Given the description of an element on the screen output the (x, y) to click on. 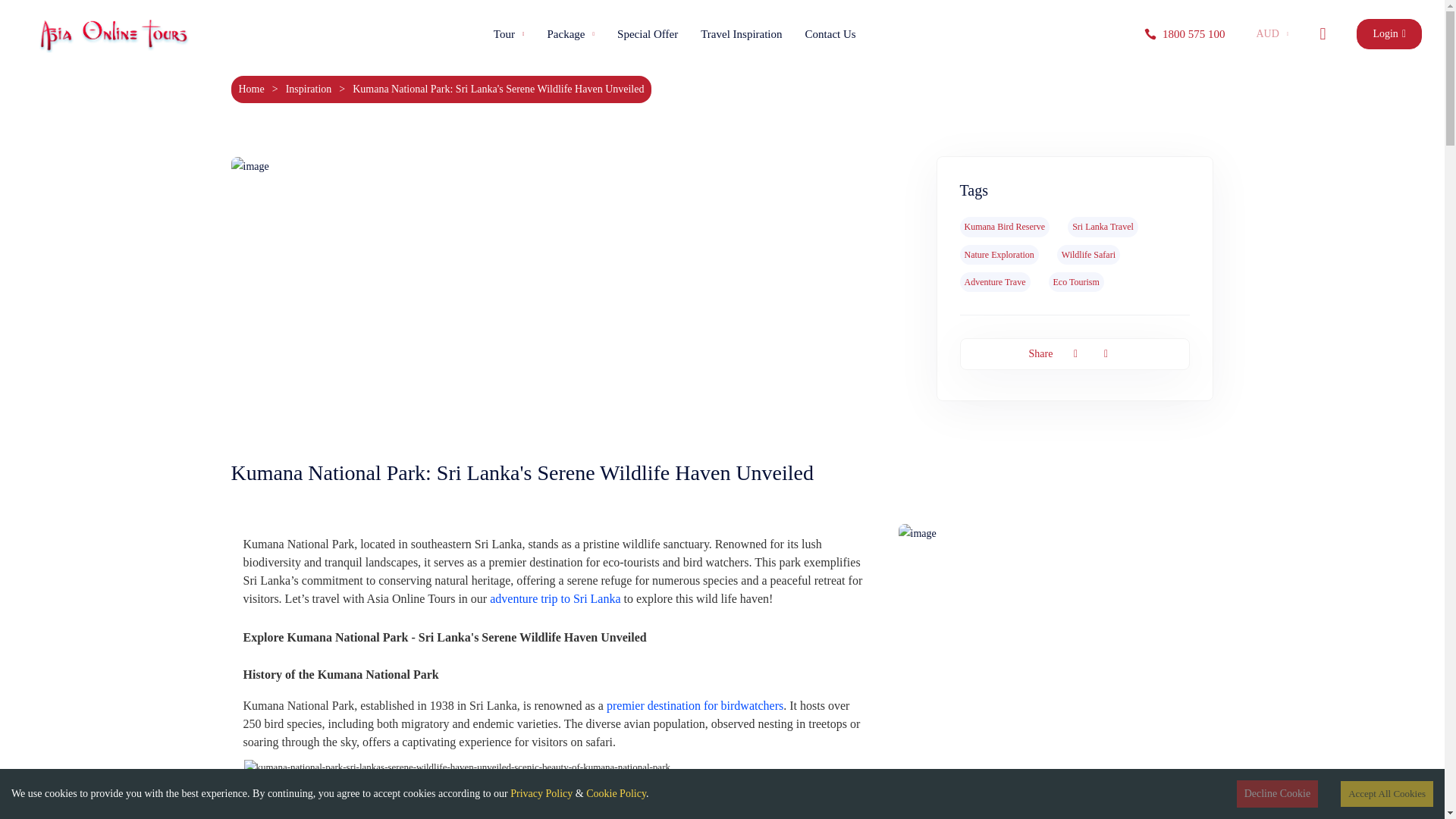
Tour (508, 34)
Special Offer (646, 34)
Package (571, 34)
Travel Inspiration (740, 34)
